Given the description of an element on the screen output the (x, y) to click on. 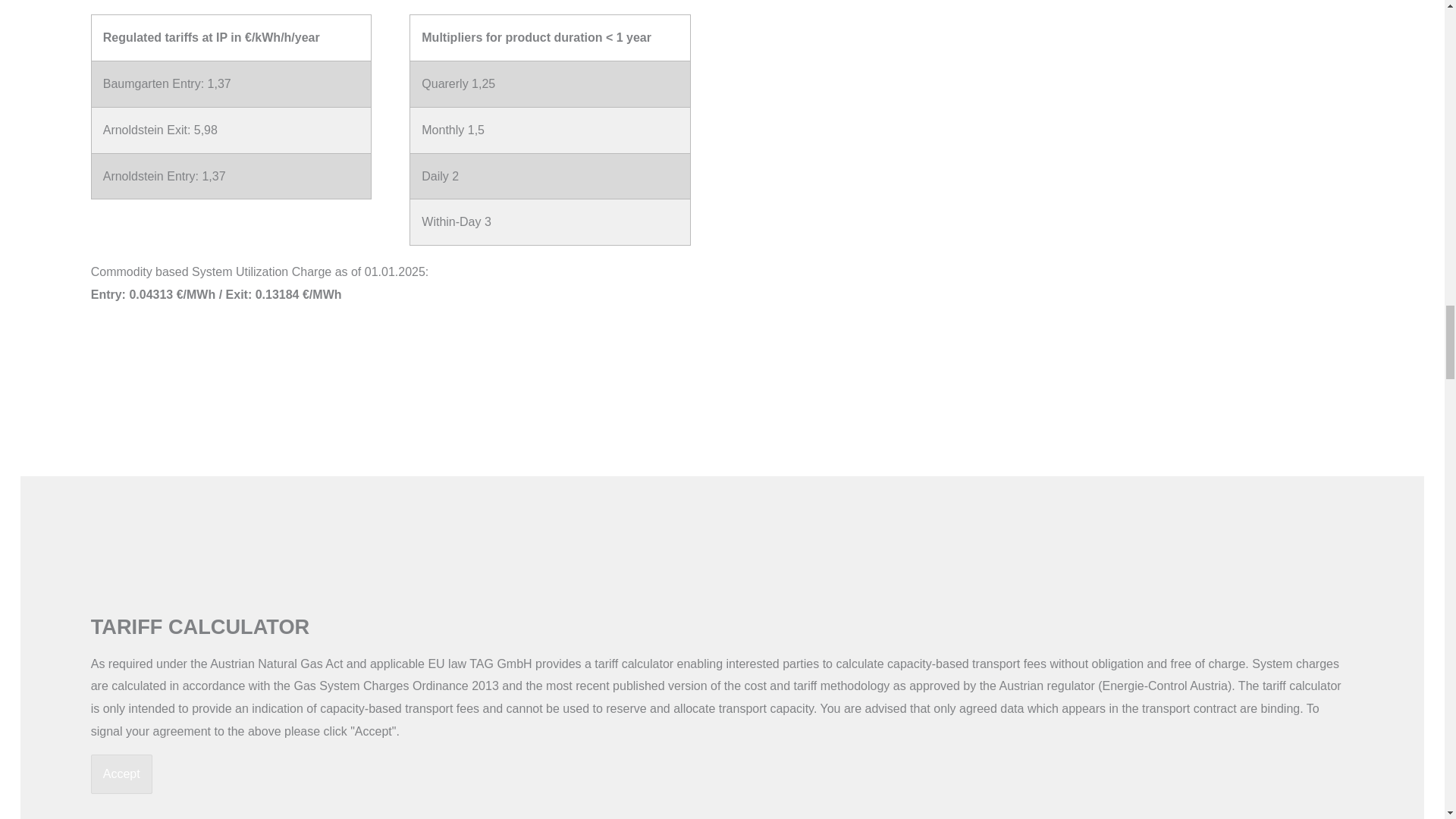
Accept (121, 773)
